Given the description of an element on the screen output the (x, y) to click on. 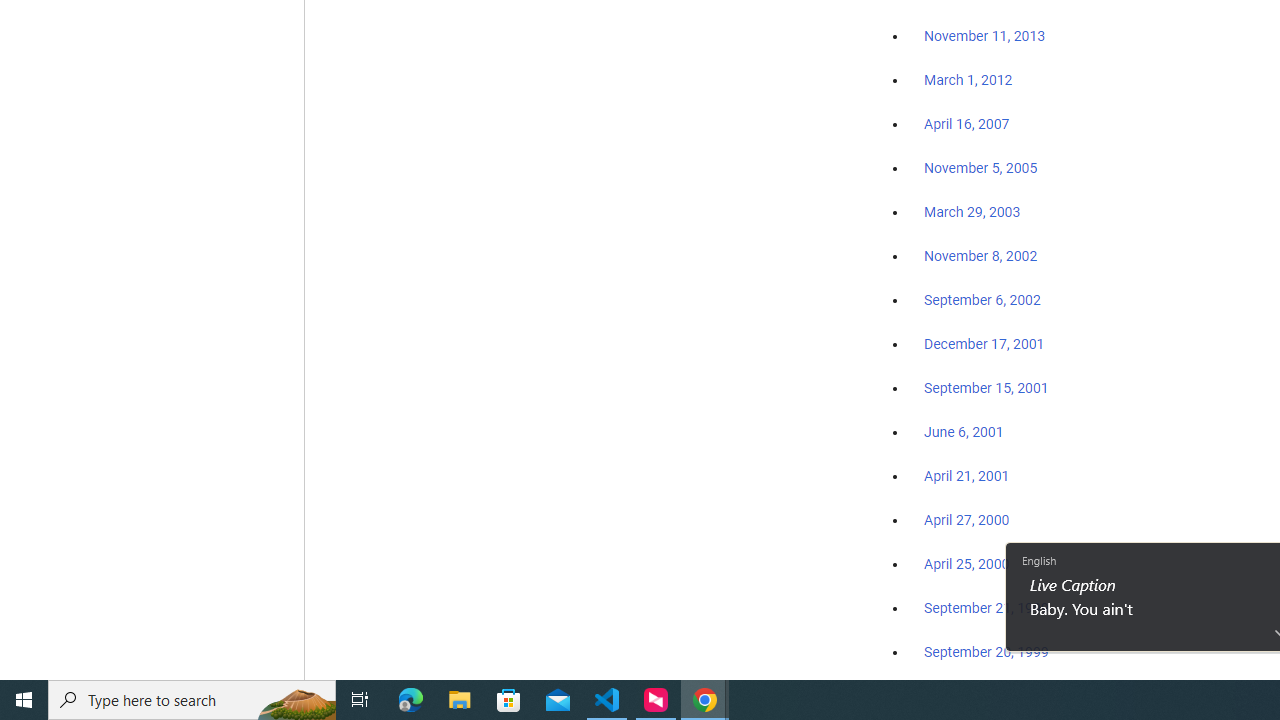
File Explorer (460, 699)
March 1, 2012 (968, 81)
Start (24, 699)
Google Chrome - 3 running windows (704, 699)
Microsoft Edge (411, 699)
September 6, 2002 (982, 299)
March 29, 2003 (972, 212)
